Given the description of an element on the screen output the (x, y) to click on. 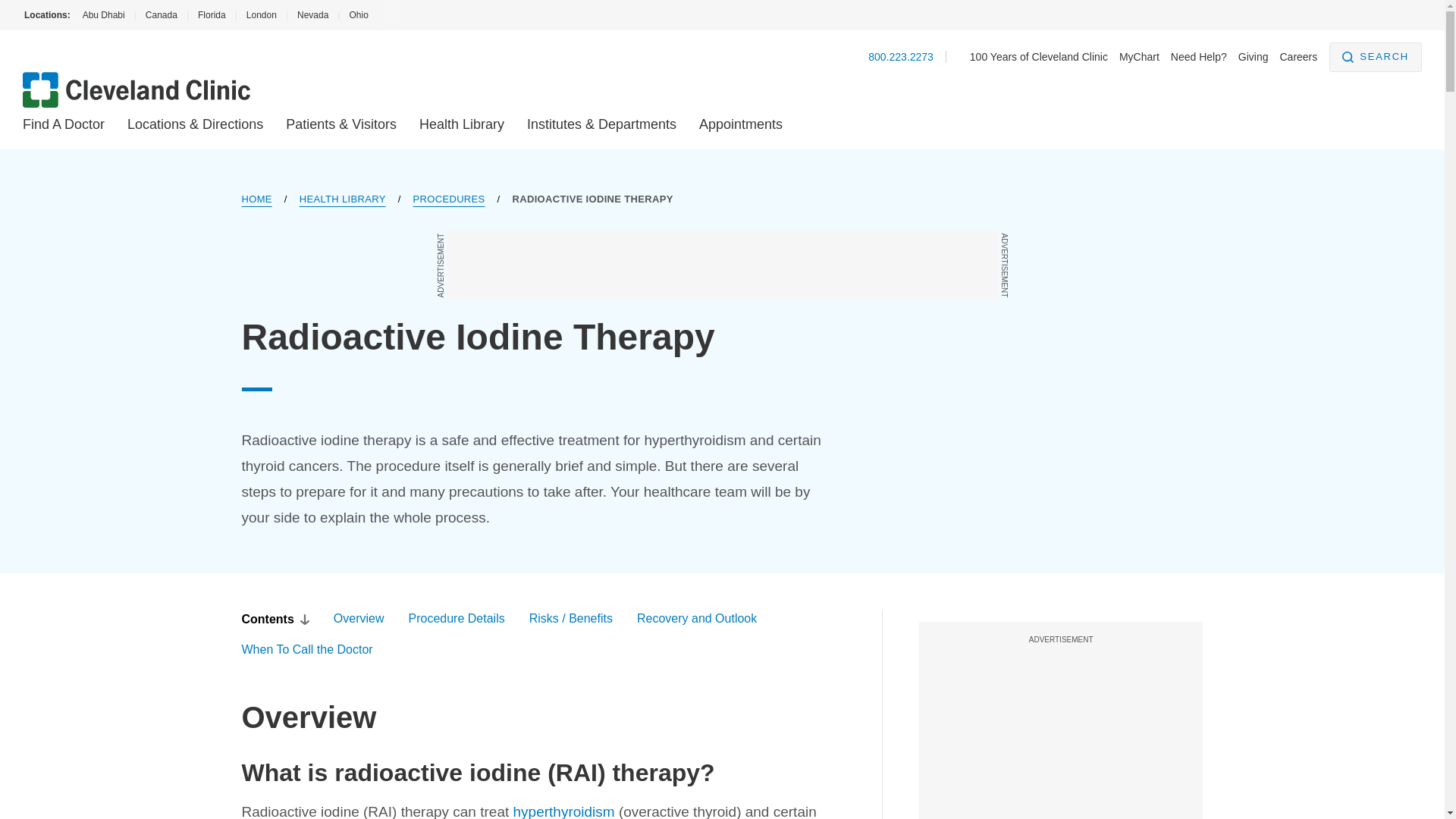
Nevada (312, 15)
London (261, 15)
Canada (161, 15)
Careers (1298, 56)
Find A Doctor (63, 124)
Procedure Details (457, 619)
hyperthyroidism (563, 811)
Overview (358, 619)
Need Help? (1198, 56)
HOME (255, 198)
